Given the description of an element on the screen output the (x, y) to click on. 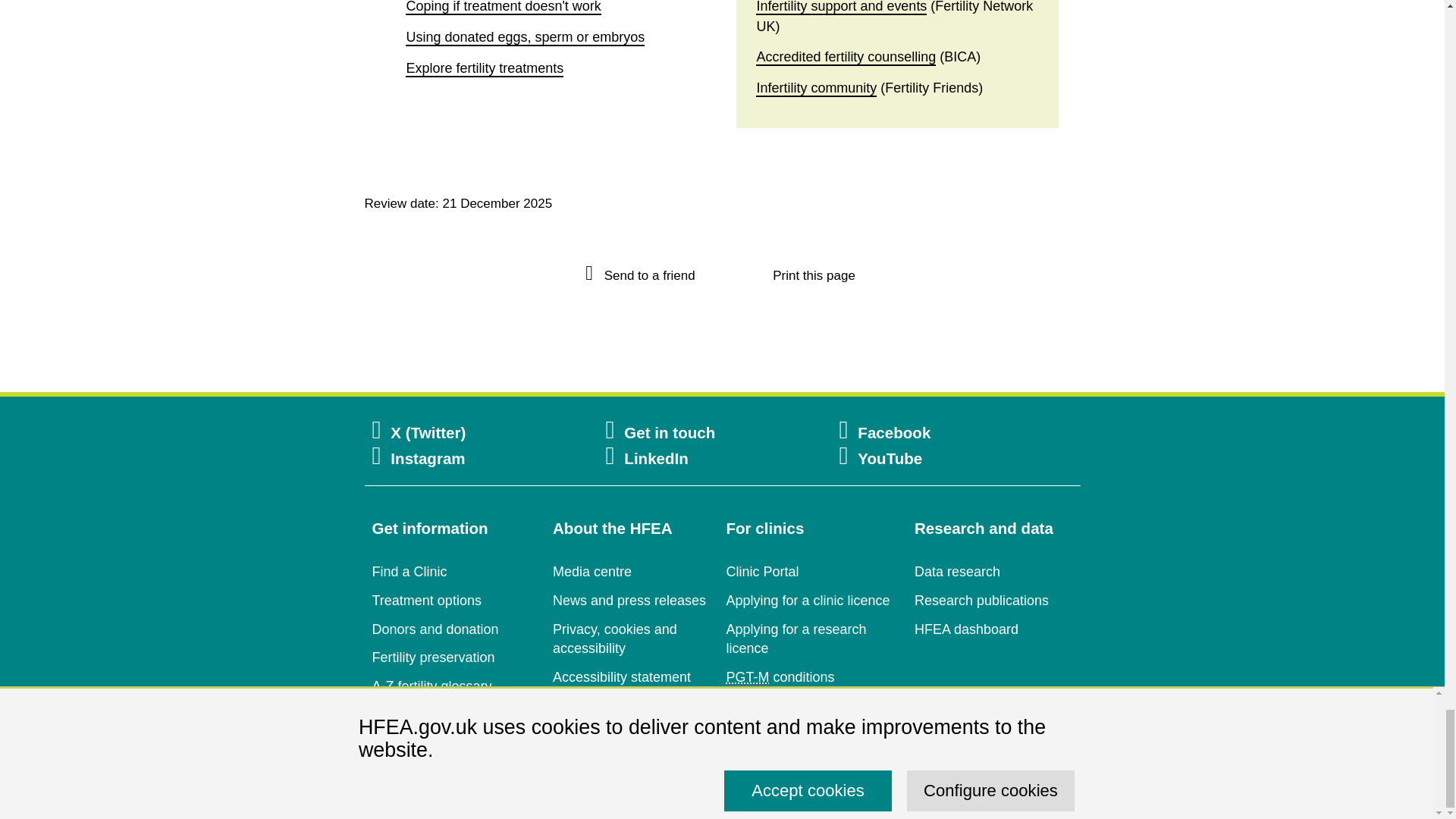
A-Z fertility glossary (431, 685)
Explore all treatments (484, 68)
Visit the 'Frequently asked questions' page (424, 724)
Coping if treatment doesn't work (502, 7)
More information about making a complaint (587, 734)
HFEA dashboard (965, 629)
Data research (957, 571)
Using donated sperm, eggs or embryos in treatment (525, 37)
Media centre (592, 571)
